Given the description of an element on the screen output the (x, y) to click on. 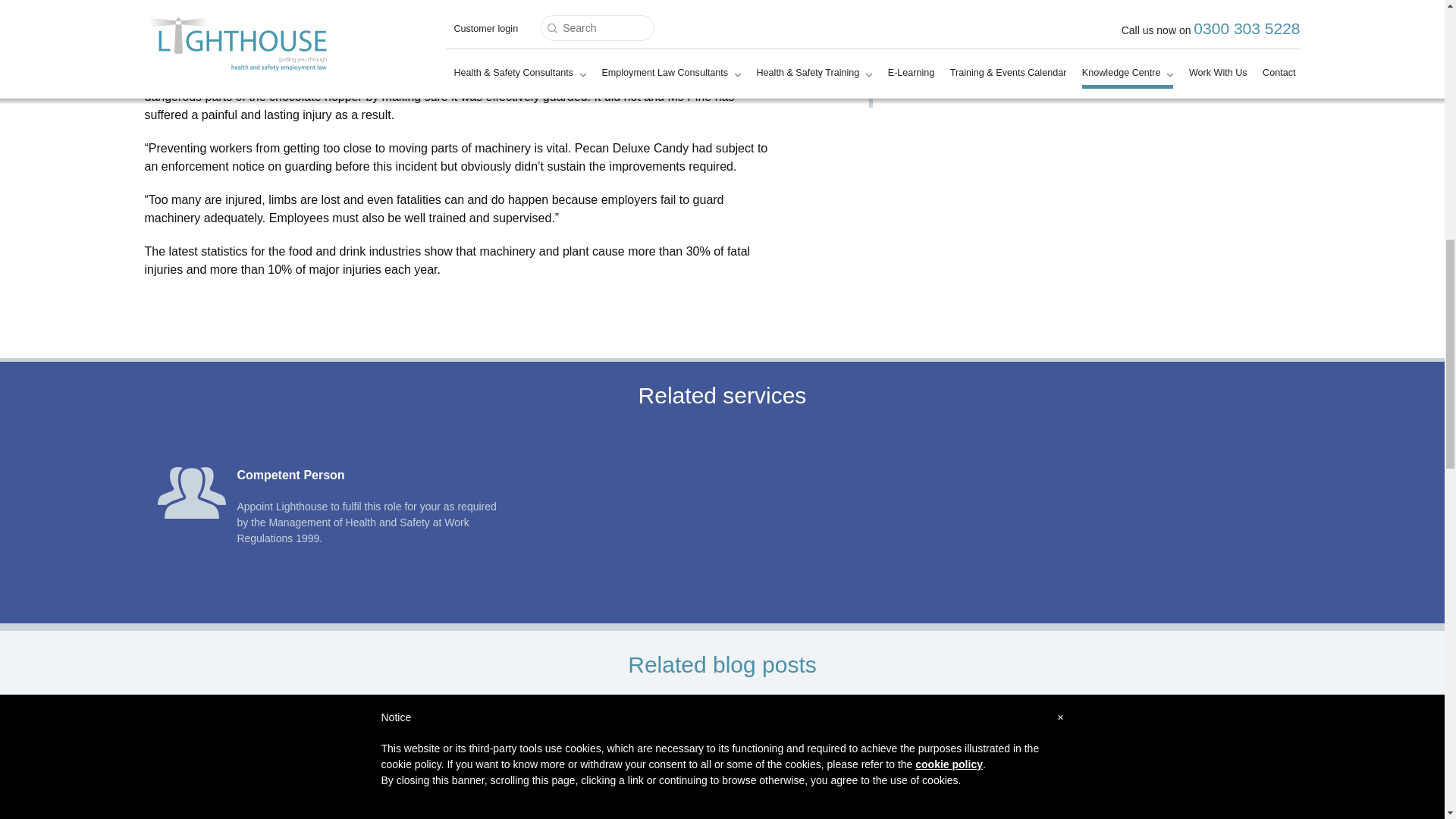
Competent Person (289, 474)
